Given the description of an element on the screen output the (x, y) to click on. 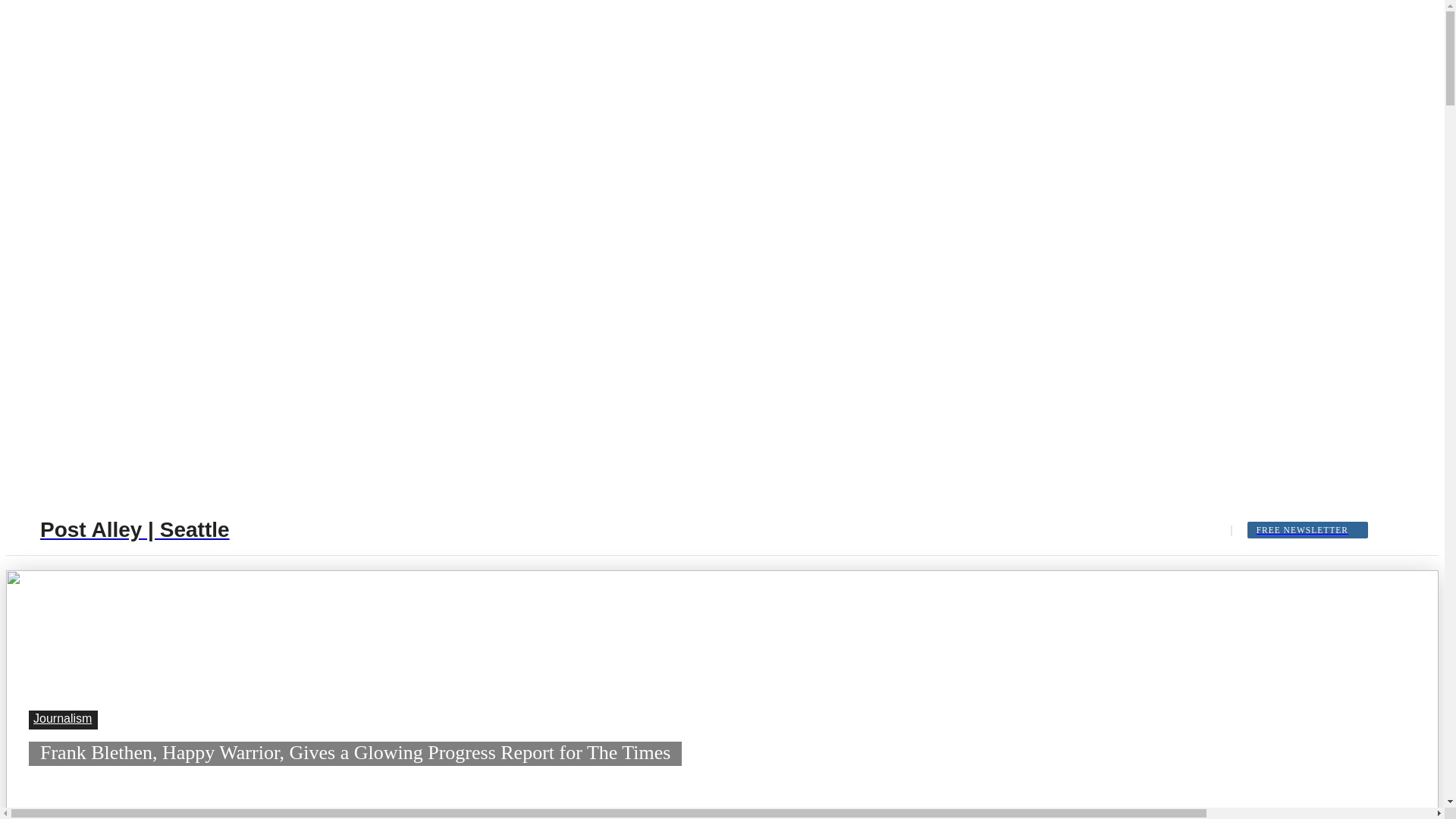
FREE NEWSLETTER (1307, 529)
